Given the description of an element on the screen output the (x, y) to click on. 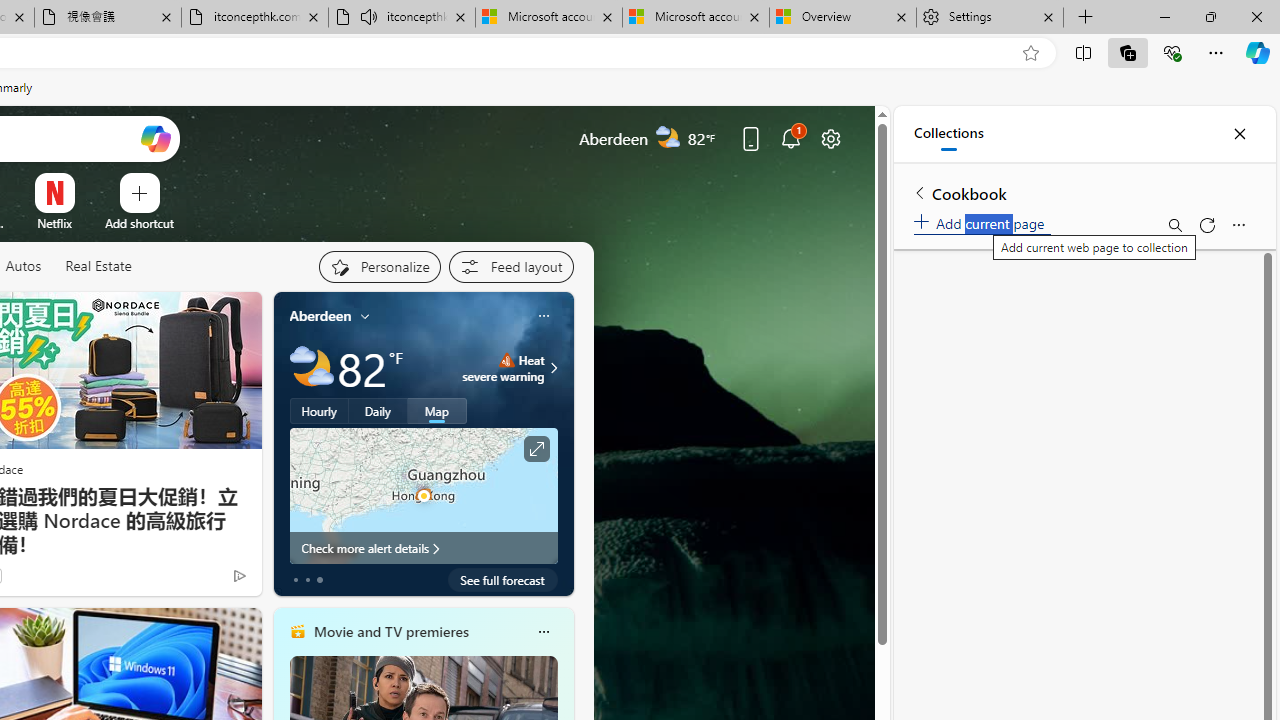
itconcepthk.com/projector_solutions.mp4 - Audio playing (401, 17)
